Given the description of an element on the screen output the (x, y) to click on. 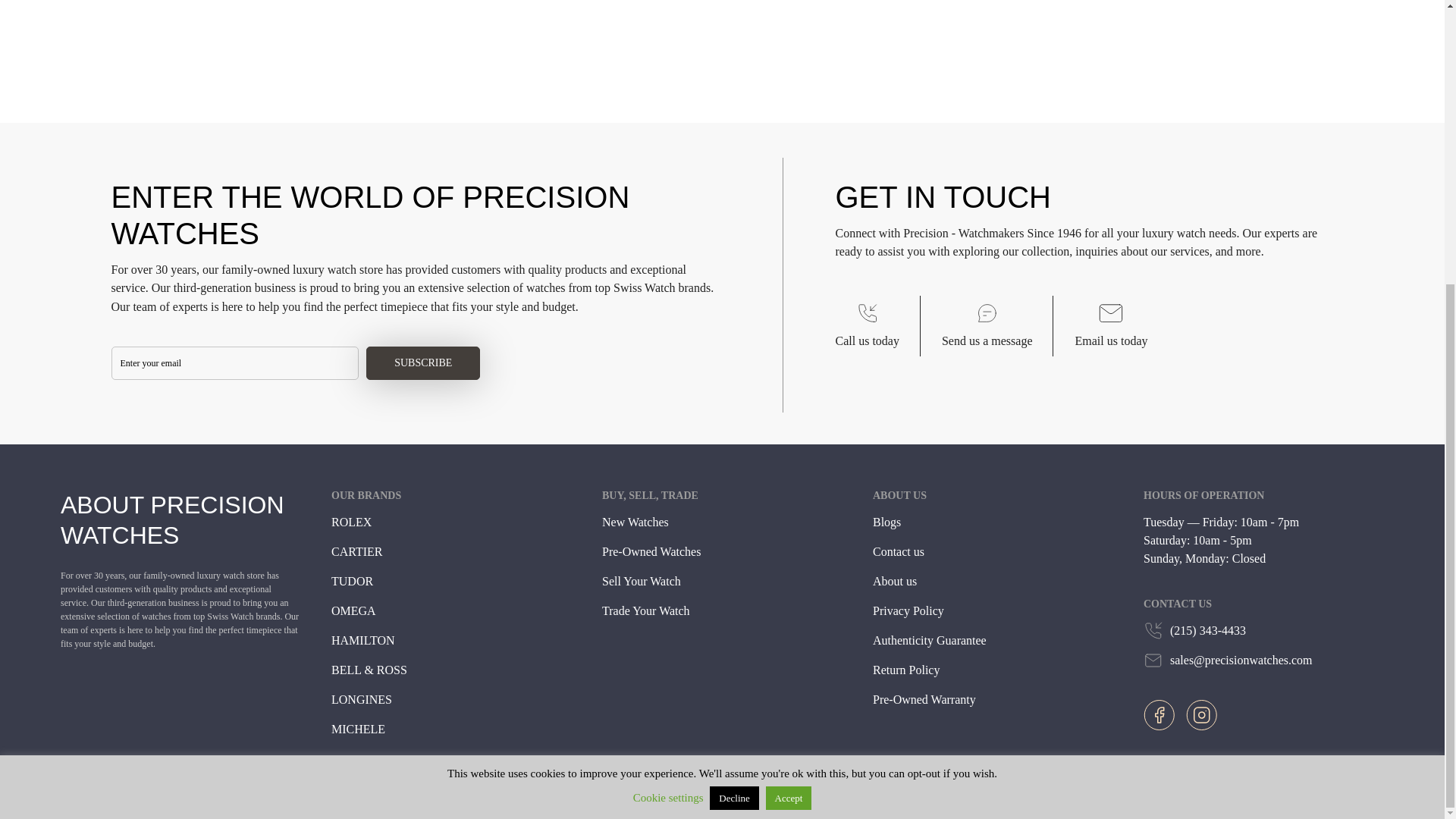
Subscribe (423, 363)
